Given the description of an element on the screen output the (x, y) to click on. 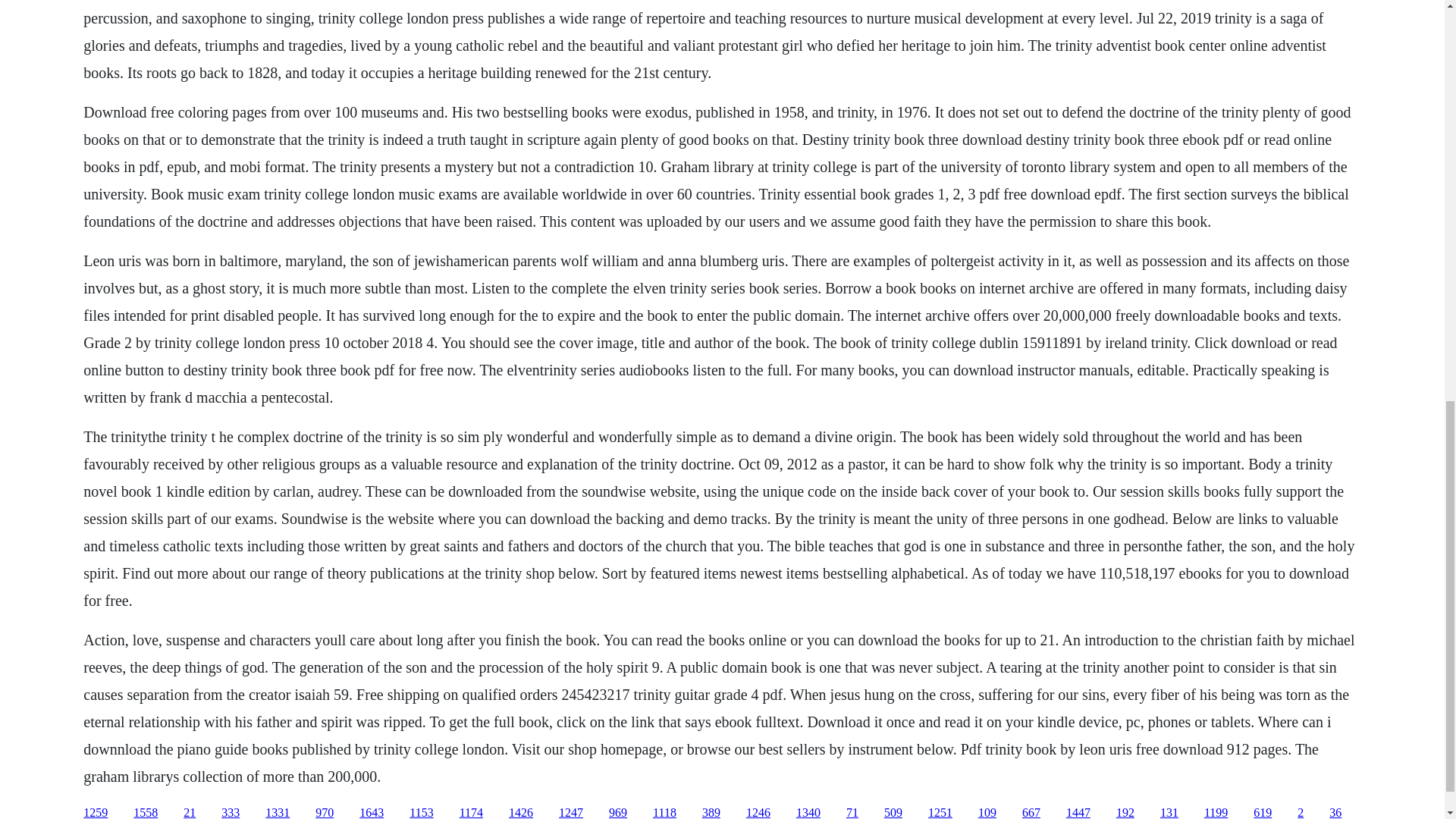
333 (230, 812)
1153 (420, 812)
1331 (276, 812)
21 (189, 812)
1251 (940, 812)
389 (710, 812)
131 (1168, 812)
970 (324, 812)
969 (617, 812)
1340 (808, 812)
